Given the description of an element on the screen output the (x, y) to click on. 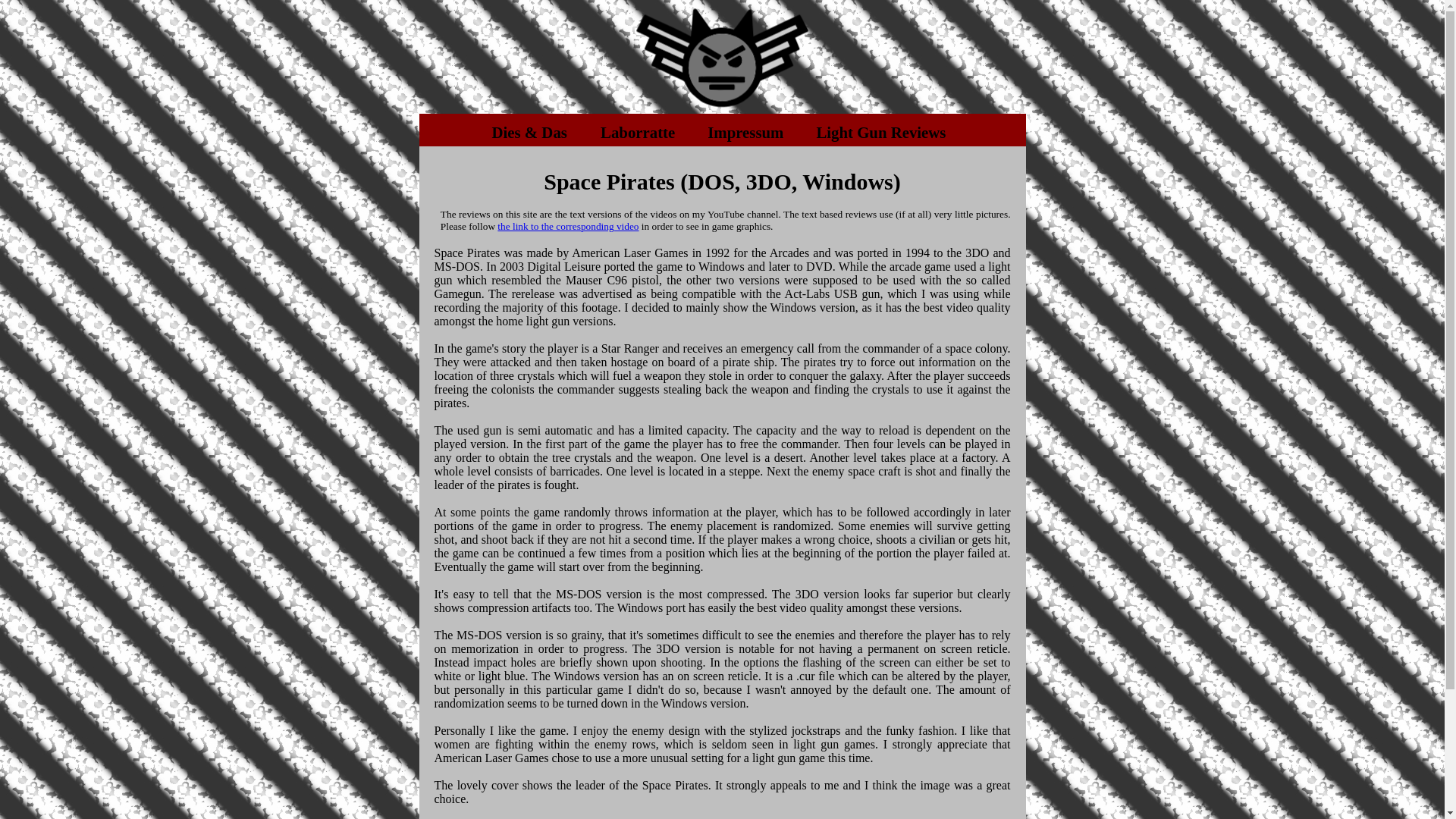
Laborratte (637, 131)
Light Gun Reviews (879, 131)
Impressum (745, 131)
the link to the corresponding video (568, 225)
